Given the description of an element on the screen output the (x, y) to click on. 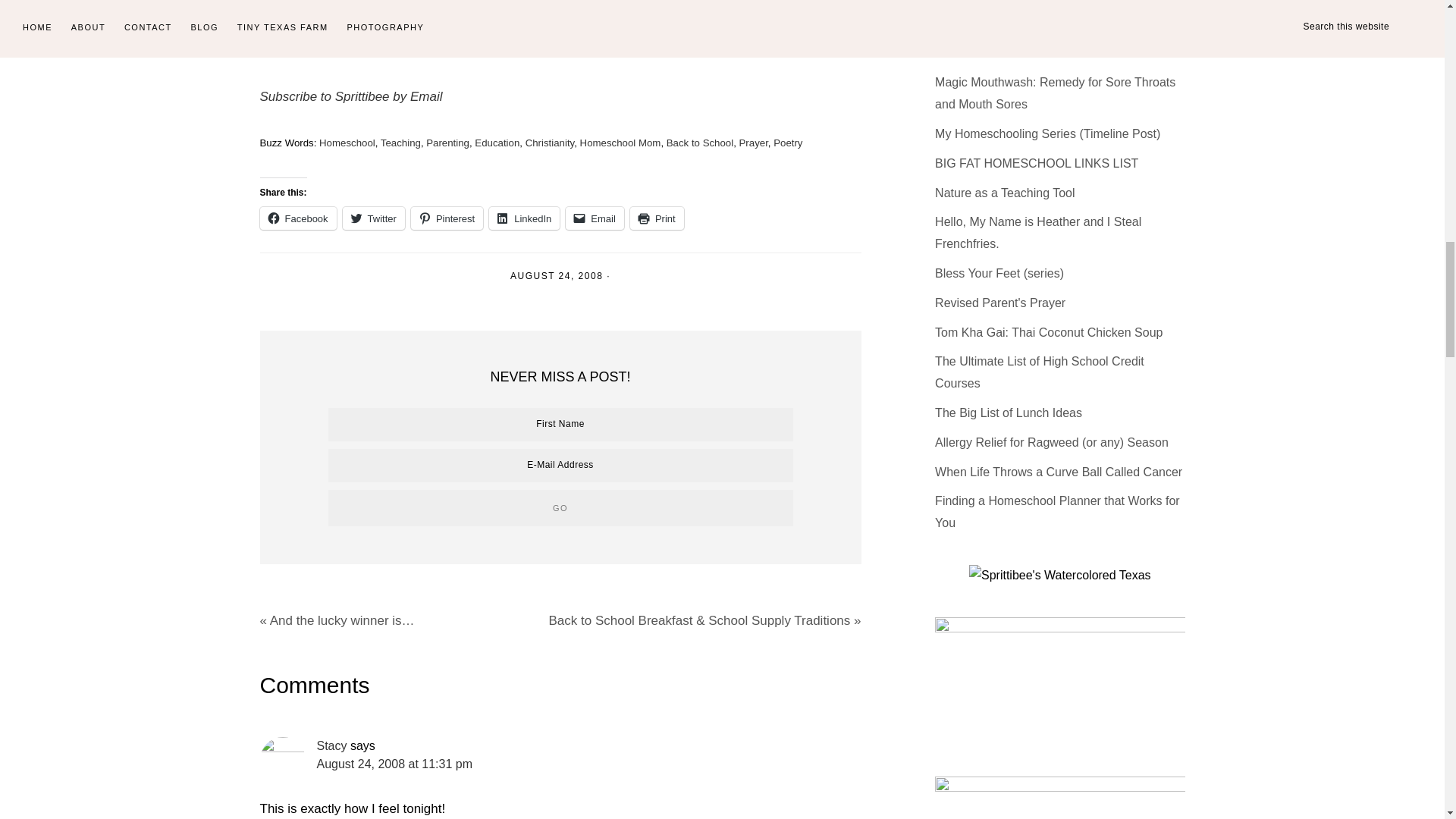
Go (559, 508)
Click to share on Twitter (373, 218)
Click to share on Facebook (297, 218)
Click to share on LinkedIn (524, 218)
Click to share on Pinterest (446, 218)
Sprittibee's Watercolor Texas (1060, 576)
Click to email a link to a friend (595, 218)
Click to print (657, 218)
